Given the description of an element on the screen output the (x, y) to click on. 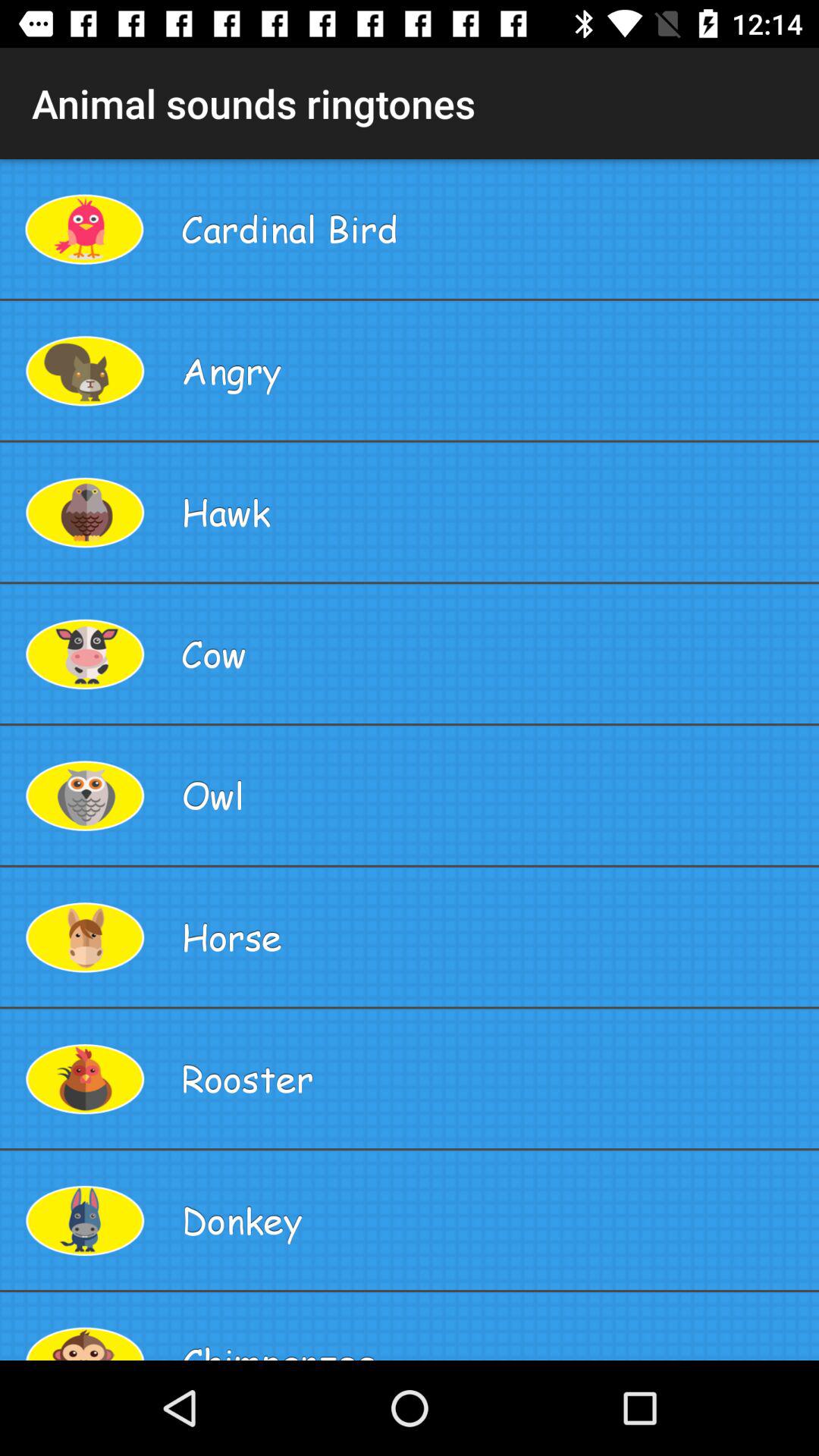
flip until chimpanzee app (494, 1326)
